Given the description of an element on the screen output the (x, y) to click on. 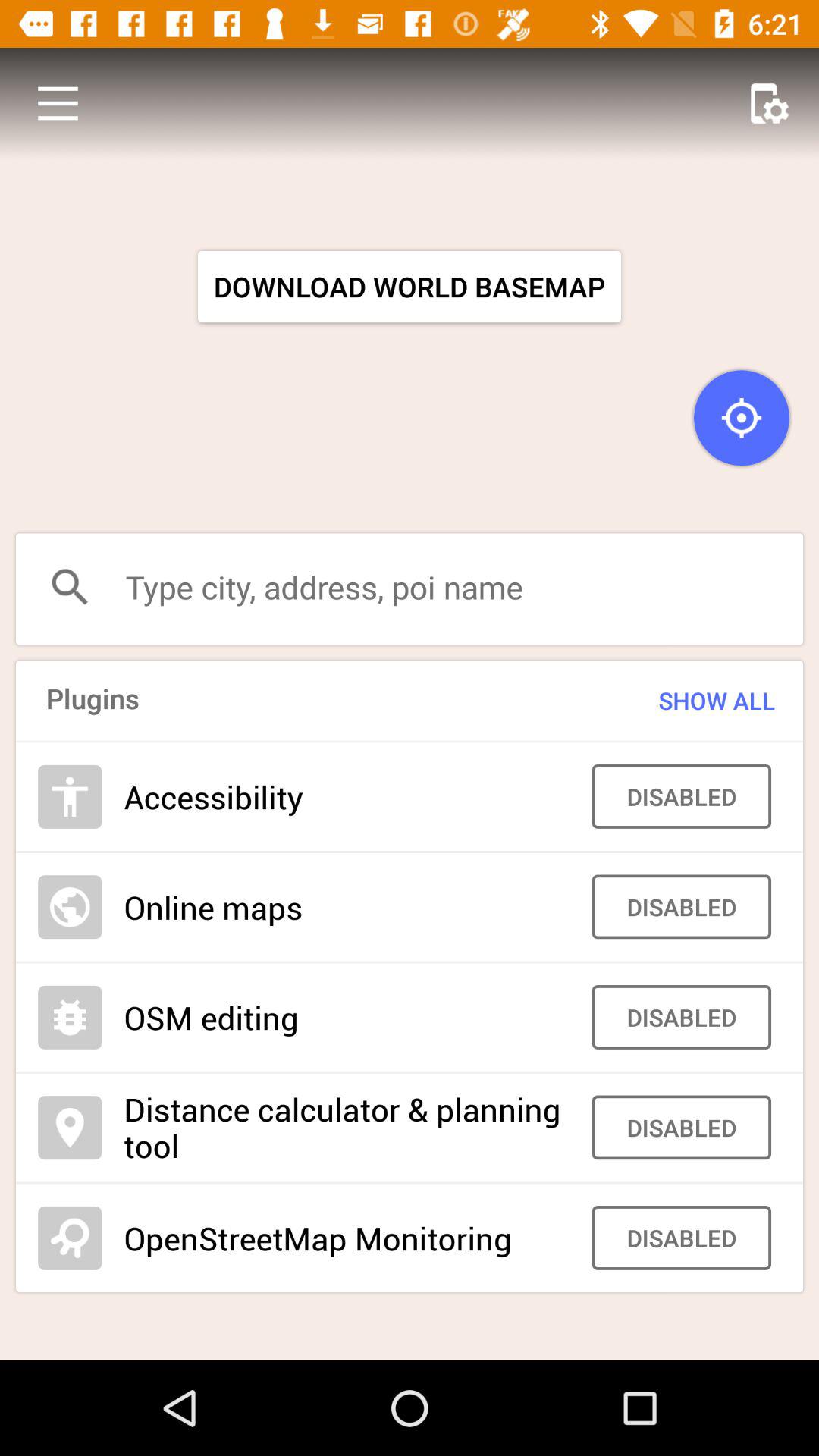
turn off icon above the type city address item (57, 103)
